Given the description of an element on the screen output the (x, y) to click on. 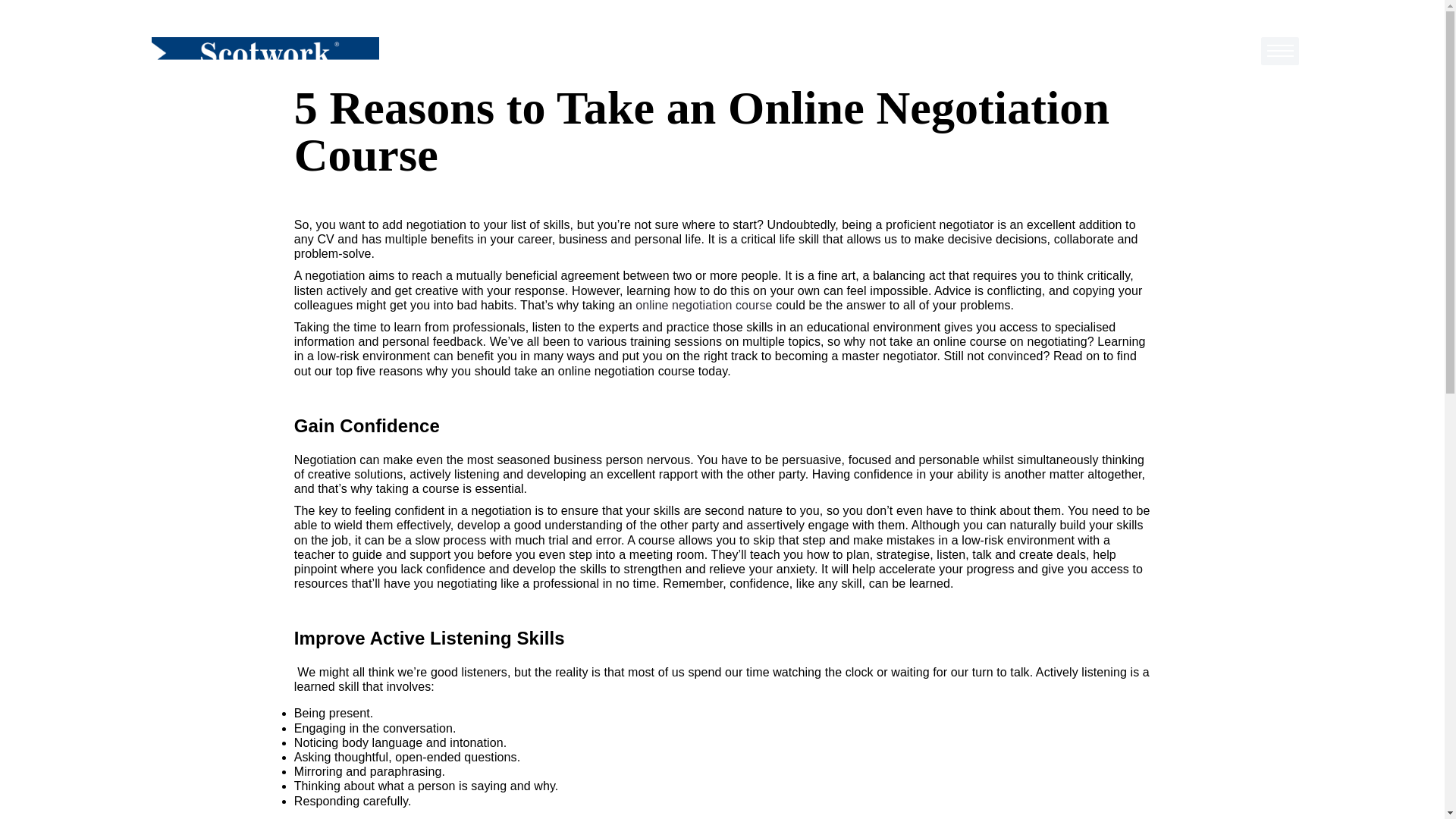
online negotiation course (702, 305)
home (264, 54)
